Given the description of an element on the screen output the (x, y) to click on. 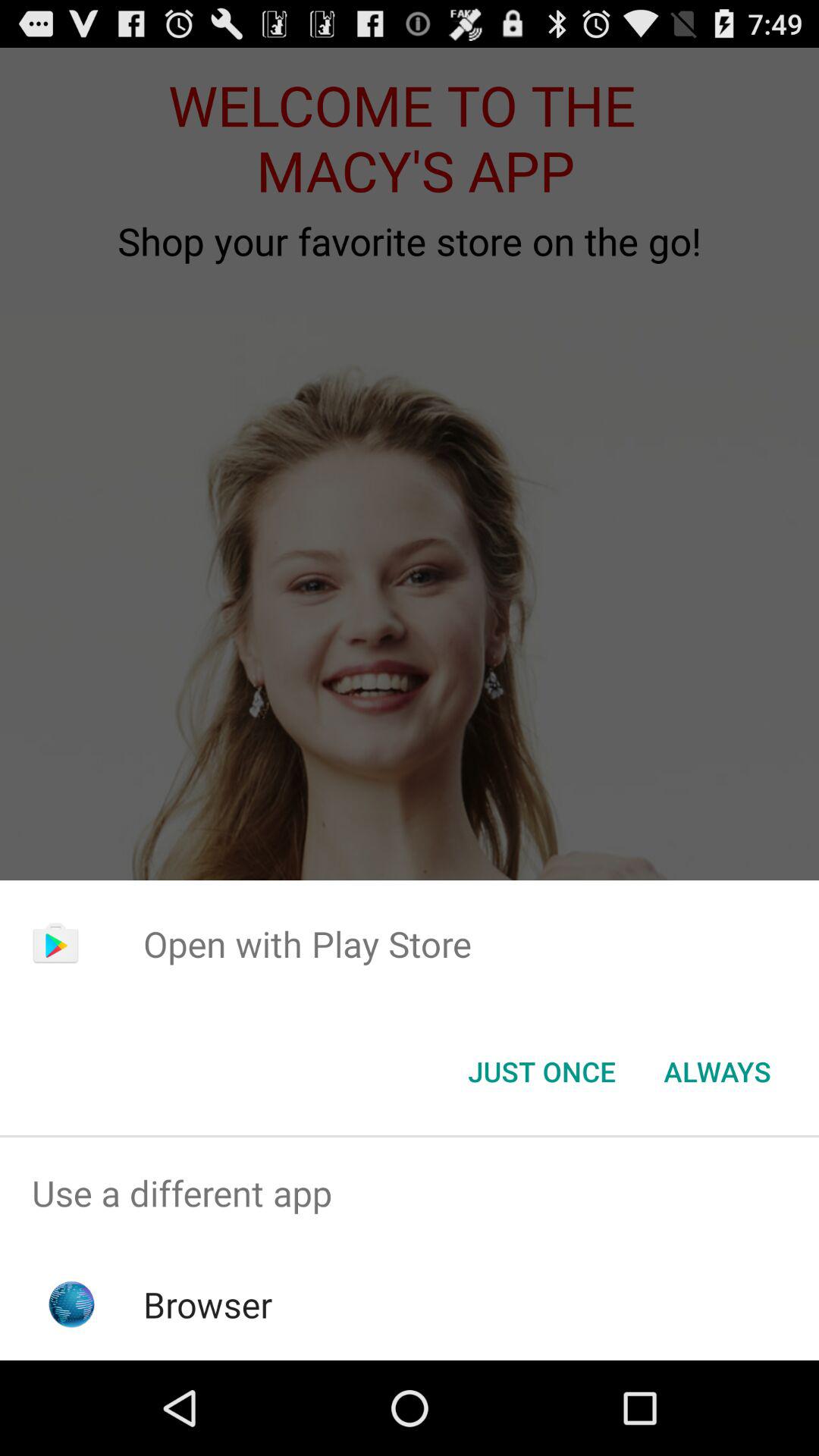
select the browser app (207, 1304)
